Given the description of an element on the screen output the (x, y) to click on. 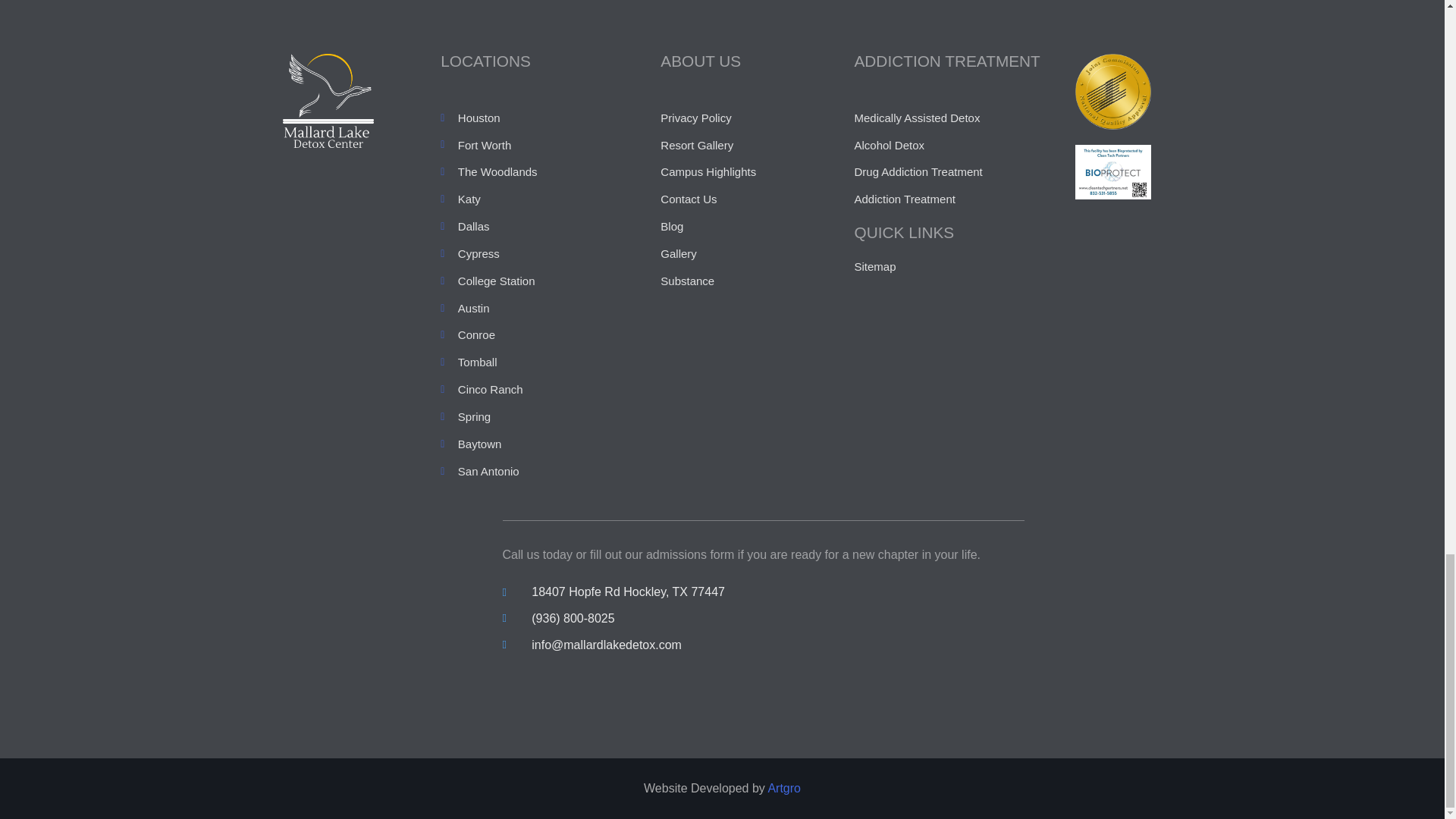
Timeline for Xanax Withdrawals near Dallas, Texas (1113, 91)
Timeline for Xanax Withdrawals near Dallas, Texas (327, 101)
Timeline for Xanax Withdrawals near Dallas, Texas (1113, 171)
